Given the description of an element on the screen output the (x, y) to click on. 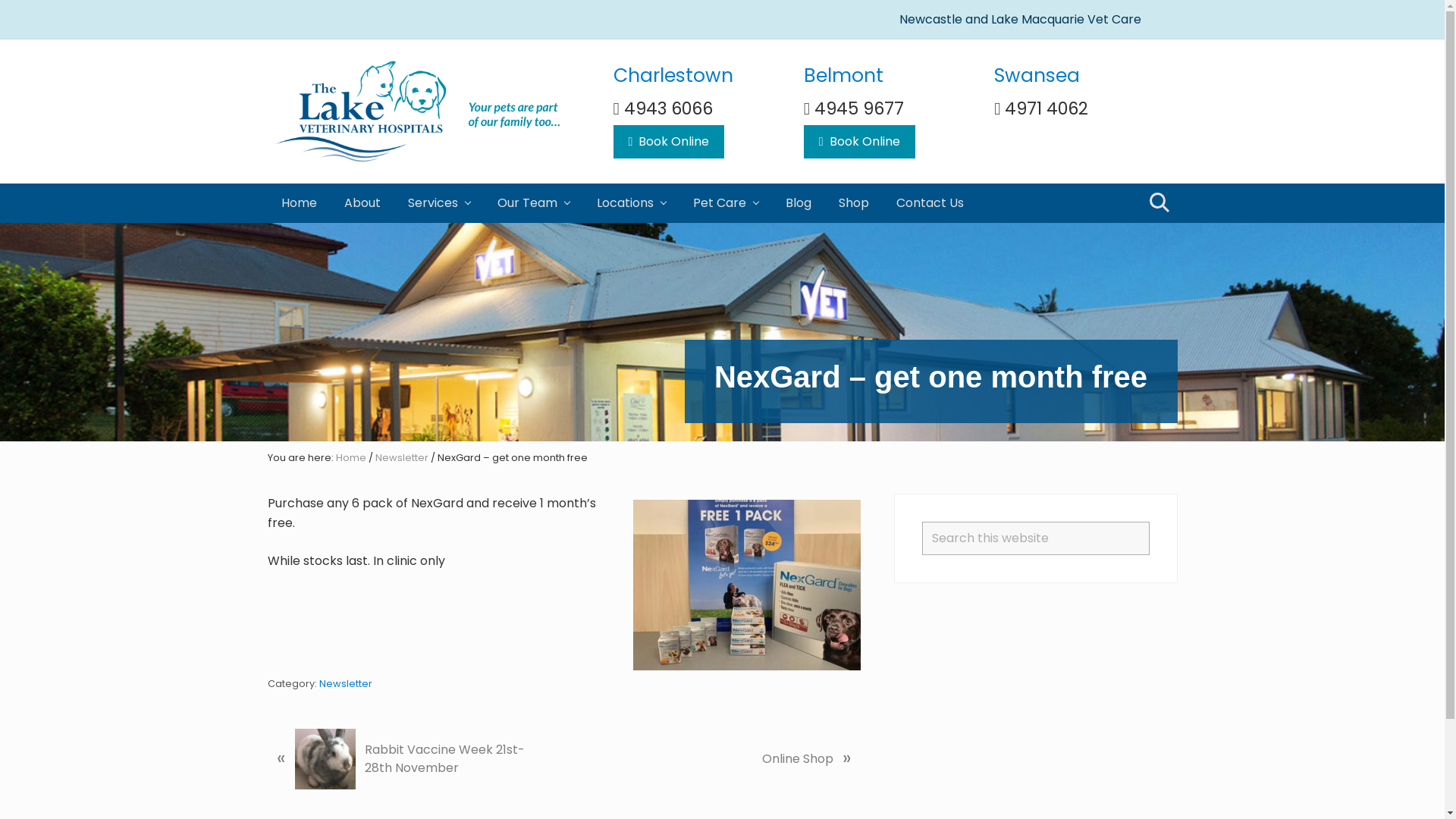
Newsletter Element type: text (400, 457)
Search Element type: text (1157, 202)
About Element type: text (362, 202)
Search Element type: text (1148, 520)
Home Element type: text (297, 202)
  Book Online Element type: text (668, 141)
Shop Element type: text (853, 202)
Our Team Element type: text (533, 202)
Home Element type: text (350, 457)
Skip to primary navigation Element type: text (0, 0)
Services Element type: text (438, 202)
Pet Care Element type: text (725, 202)
Blog Element type: text (798, 202)
Newsletter Element type: text (344, 683)
Locations Element type: text (630, 202)
Contact Us Element type: text (929, 202)
  Book Online Element type: text (859, 141)
